Given the description of an element on the screen output the (x, y) to click on. 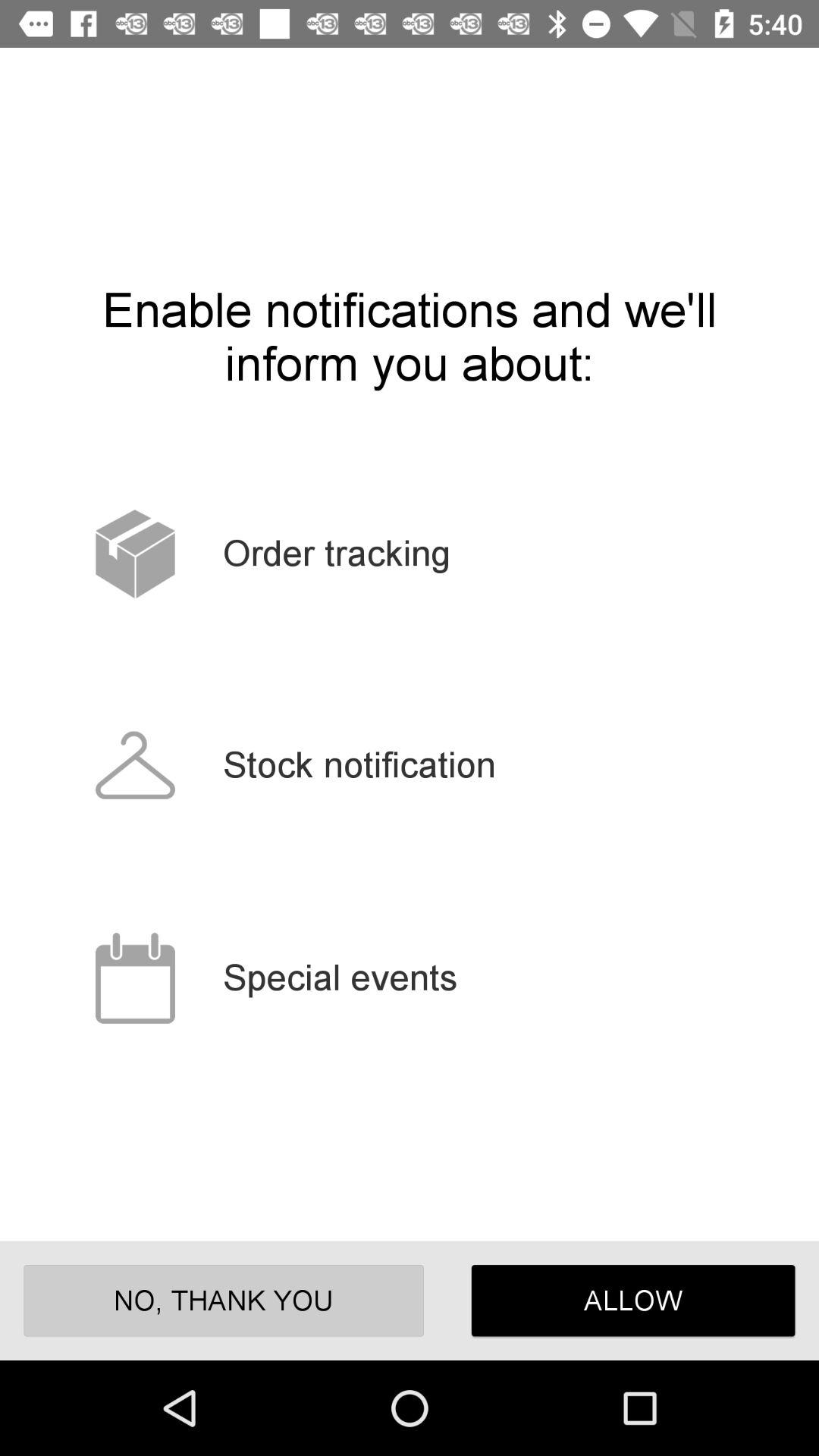
press icon next to no, thank you item (633, 1300)
